Given the description of an element on the screen output the (x, y) to click on. 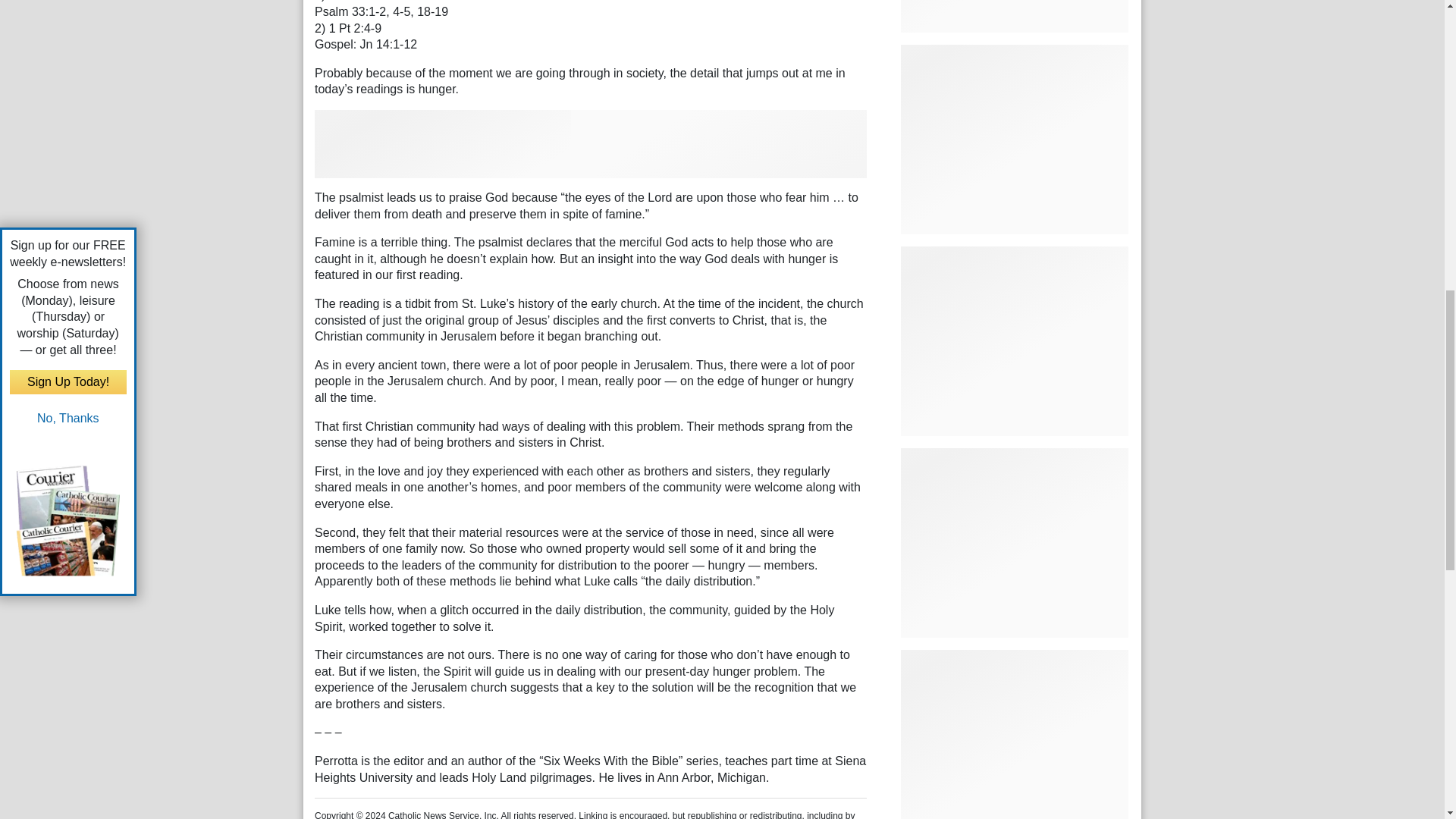
3rd party ad content (590, 143)
